Given the description of an element on the screen output the (x, y) to click on. 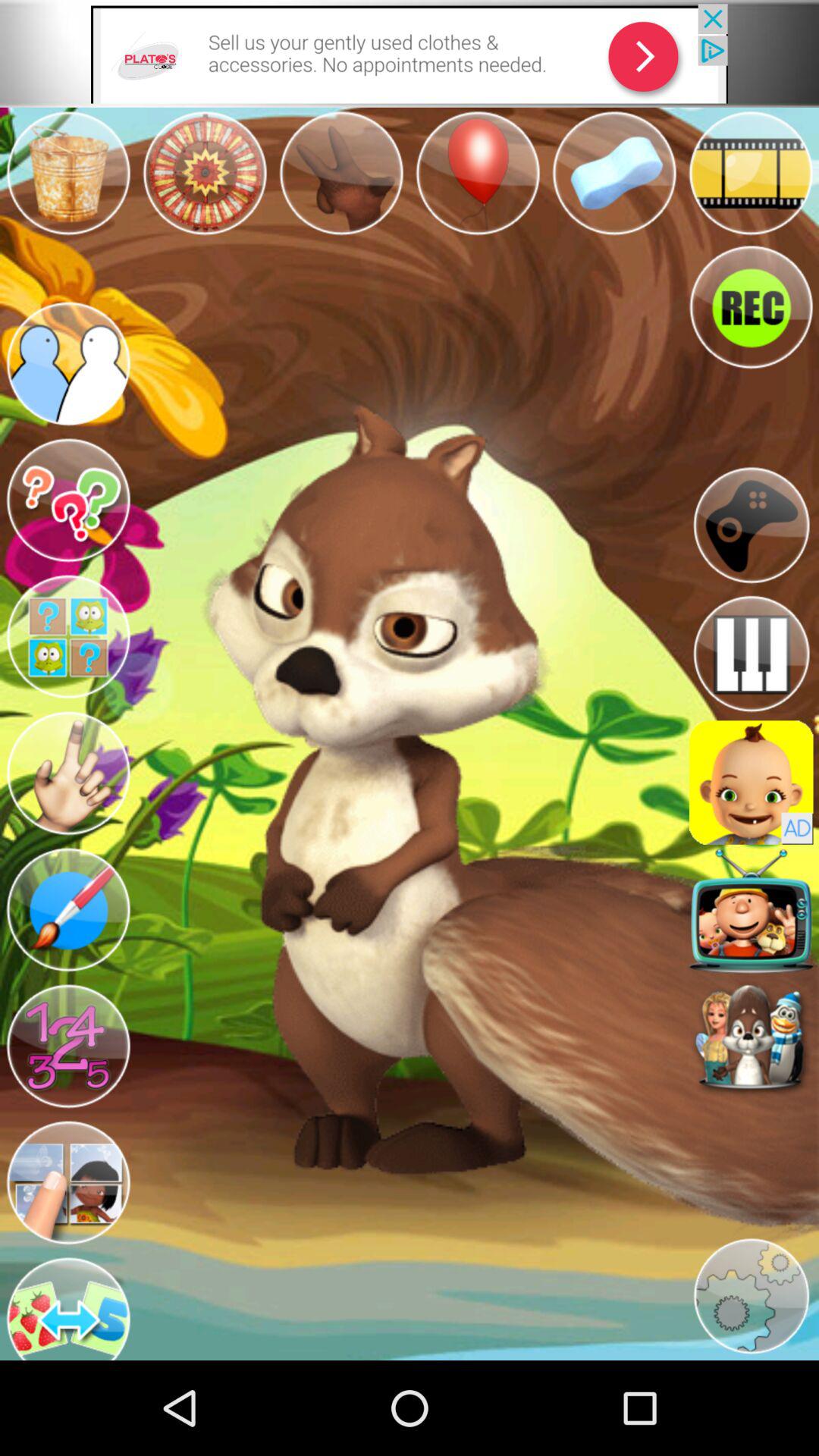
go to settings (751, 1296)
